Given the description of an element on the screen output the (x, y) to click on. 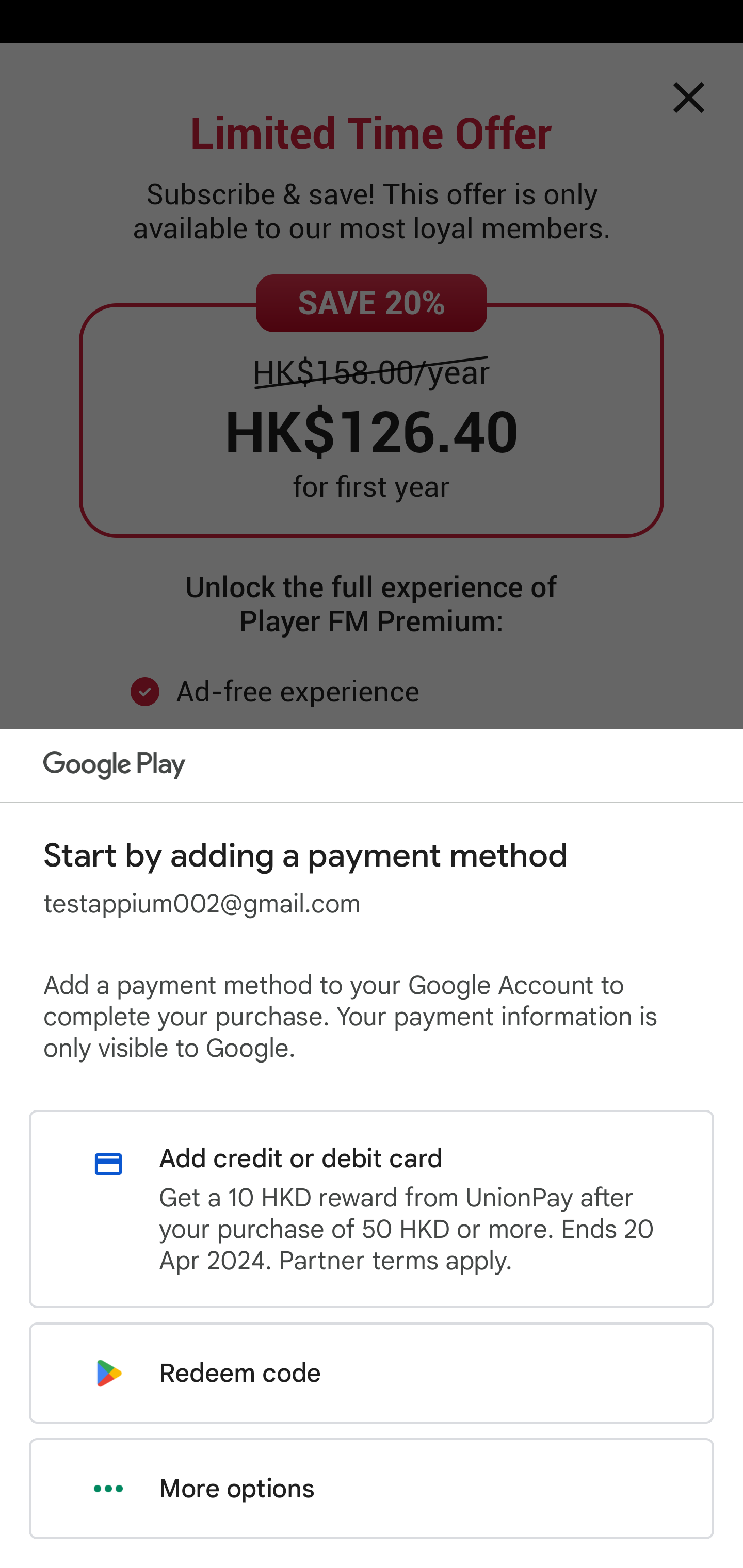
Redeem code (371, 1372)
More options (371, 1488)
